Given the description of an element on the screen output the (x, y) to click on. 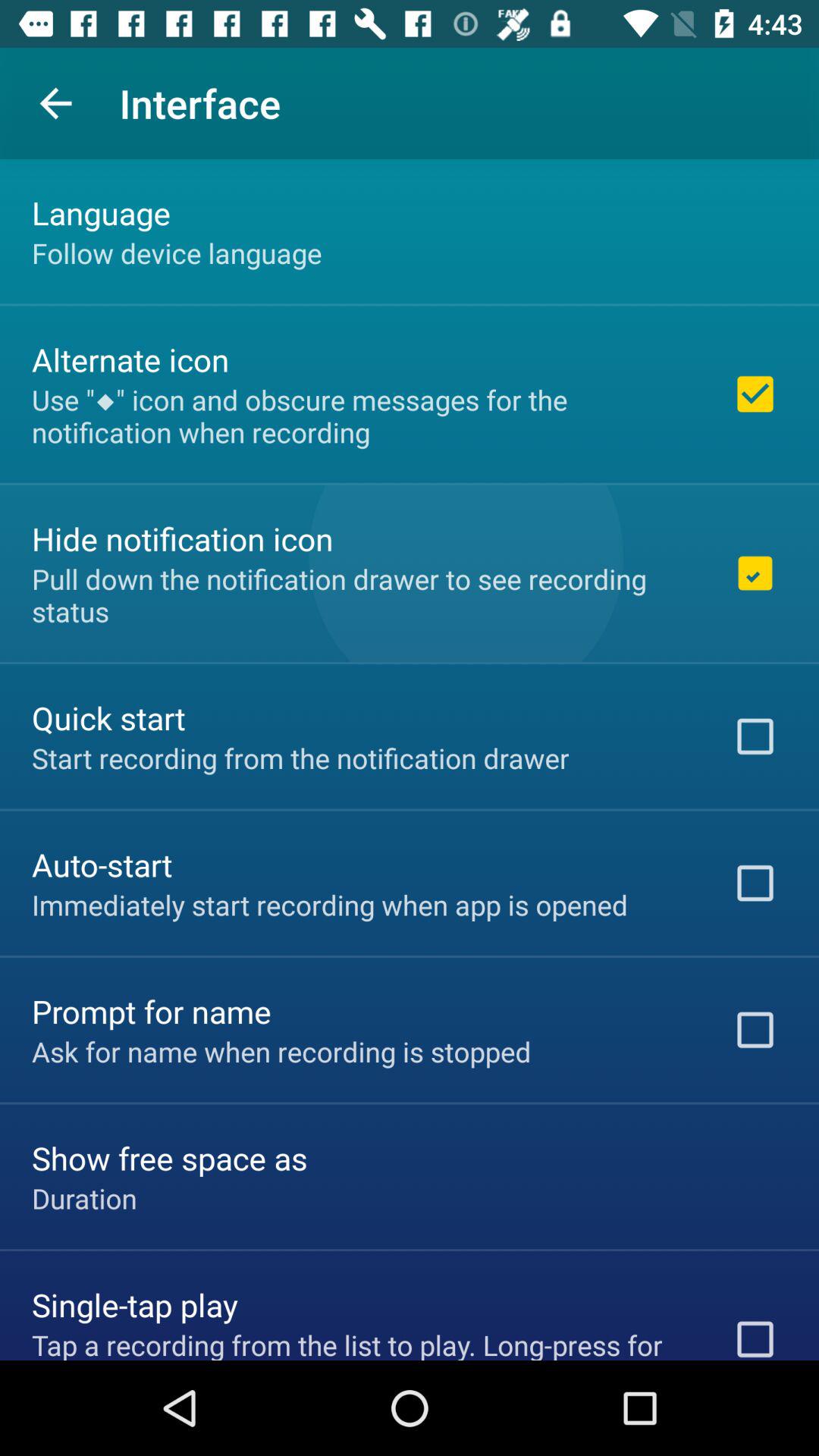
click pull down the (361, 595)
